Given the description of an element on the screen output the (x, y) to click on. 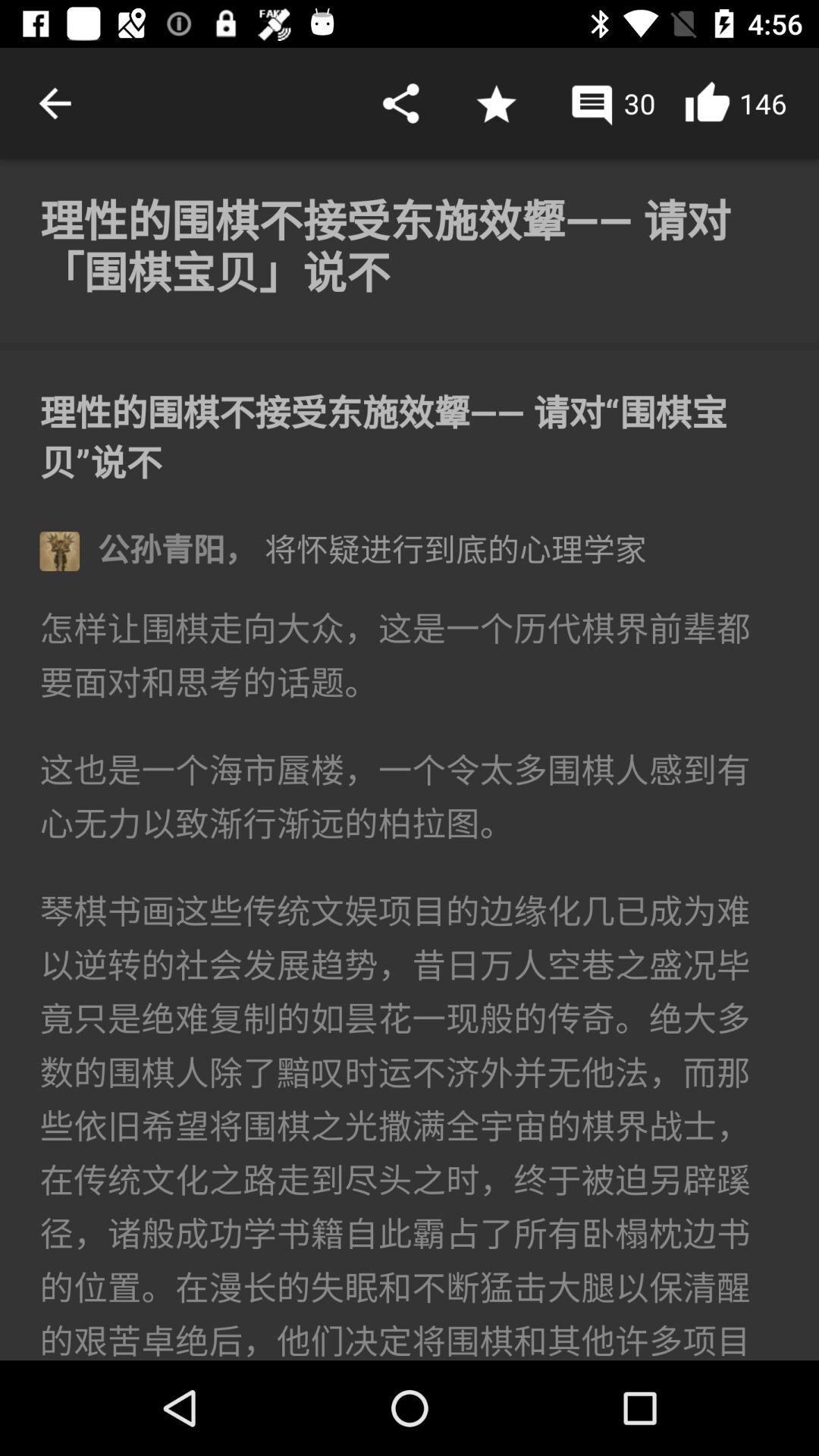
favourtie button (496, 103)
